Given the description of an element on the screen output the (x, y) to click on. 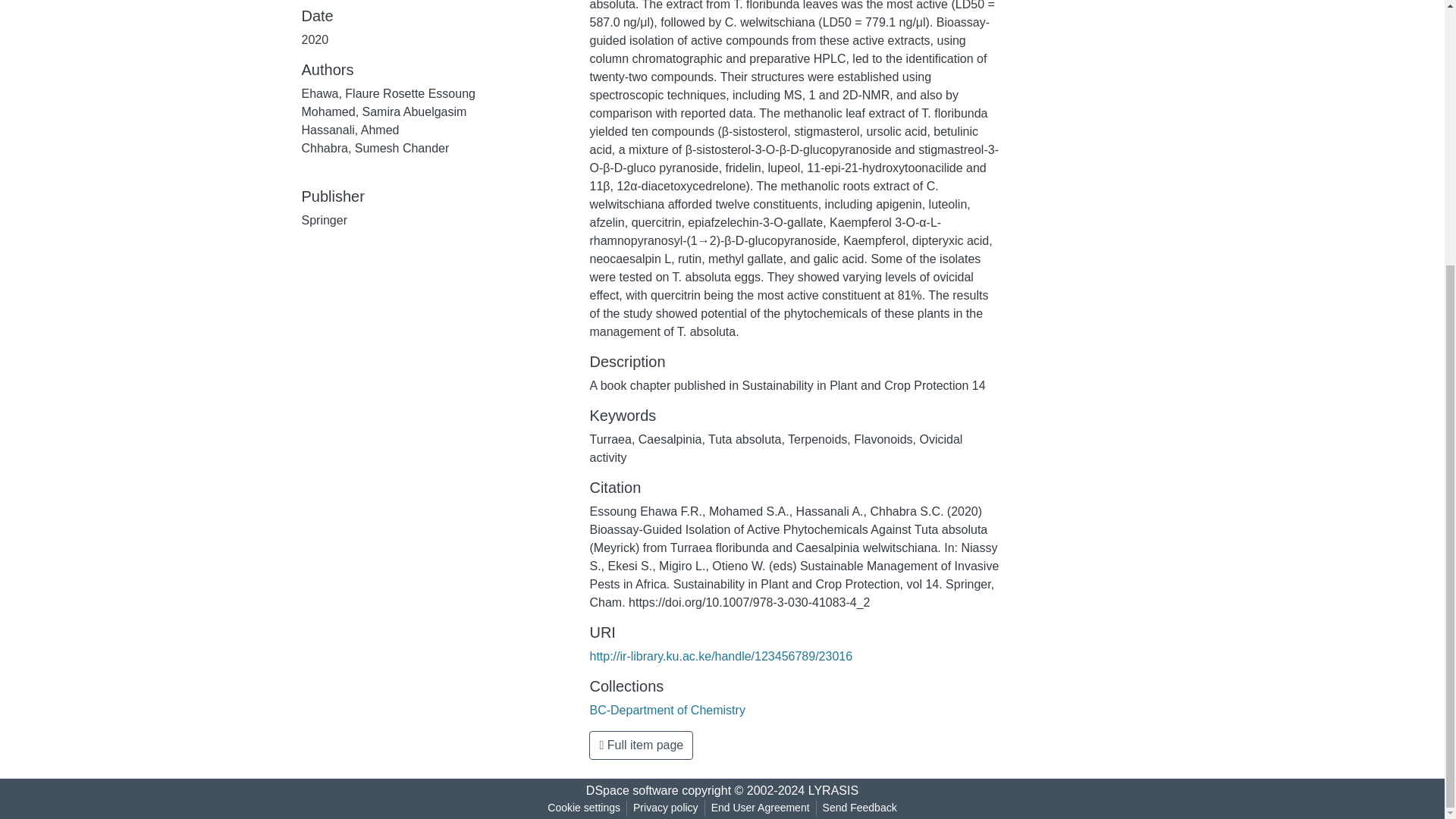
DSpace software (632, 789)
Full item page (641, 745)
End User Agreement (759, 807)
Send Feedback (859, 807)
Privacy policy (665, 807)
LYRASIS (833, 789)
BC-Department of Chemistry (666, 709)
Cookie settings (583, 807)
